Given the description of an element on the screen output the (x, y) to click on. 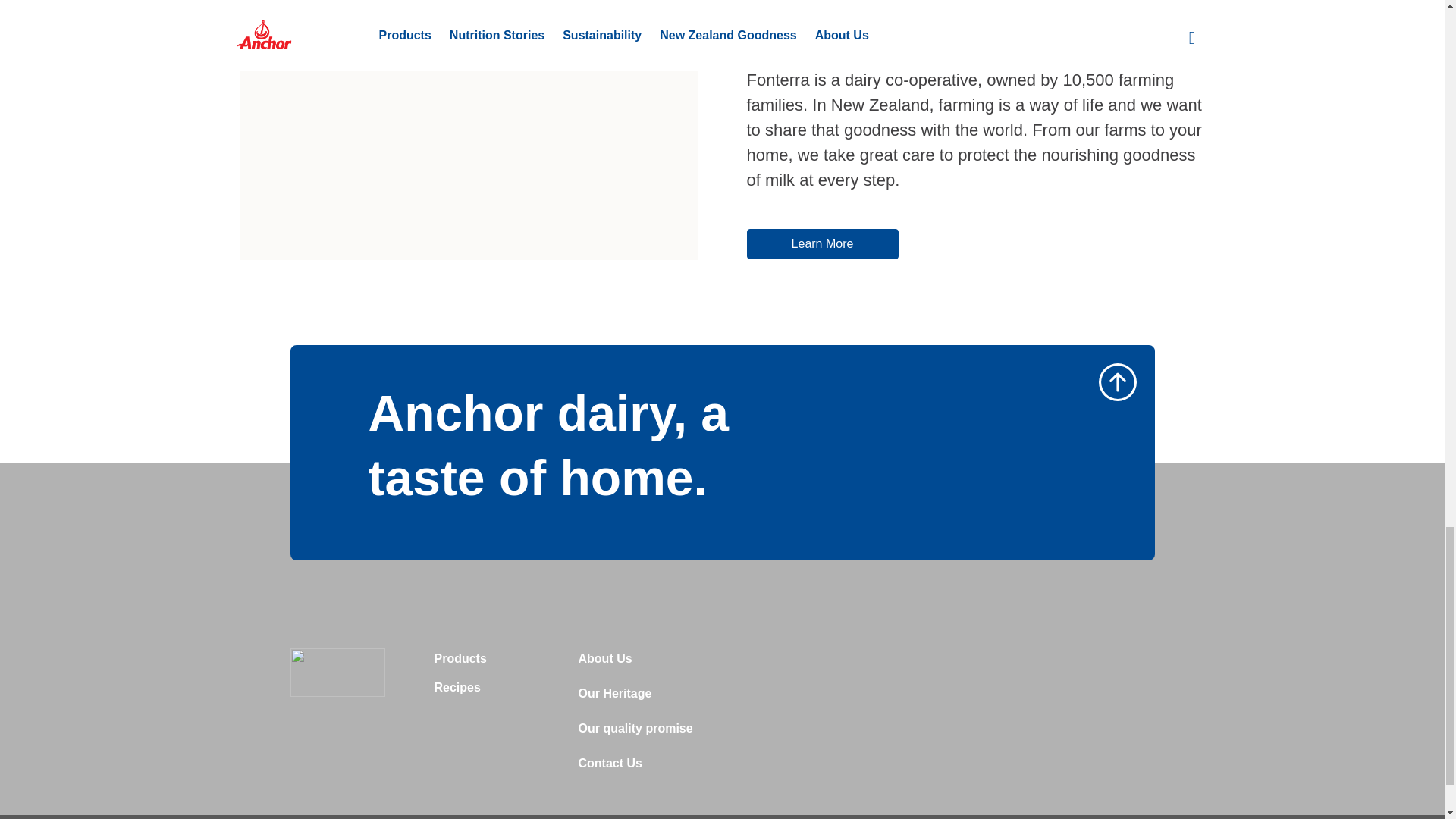
Learn More (821, 244)
Our quality promise (635, 732)
Recipes (456, 691)
About Us (604, 663)
Our Heritage (614, 697)
Contact Us (610, 768)
Products (459, 663)
